Given the description of an element on the screen output the (x, y) to click on. 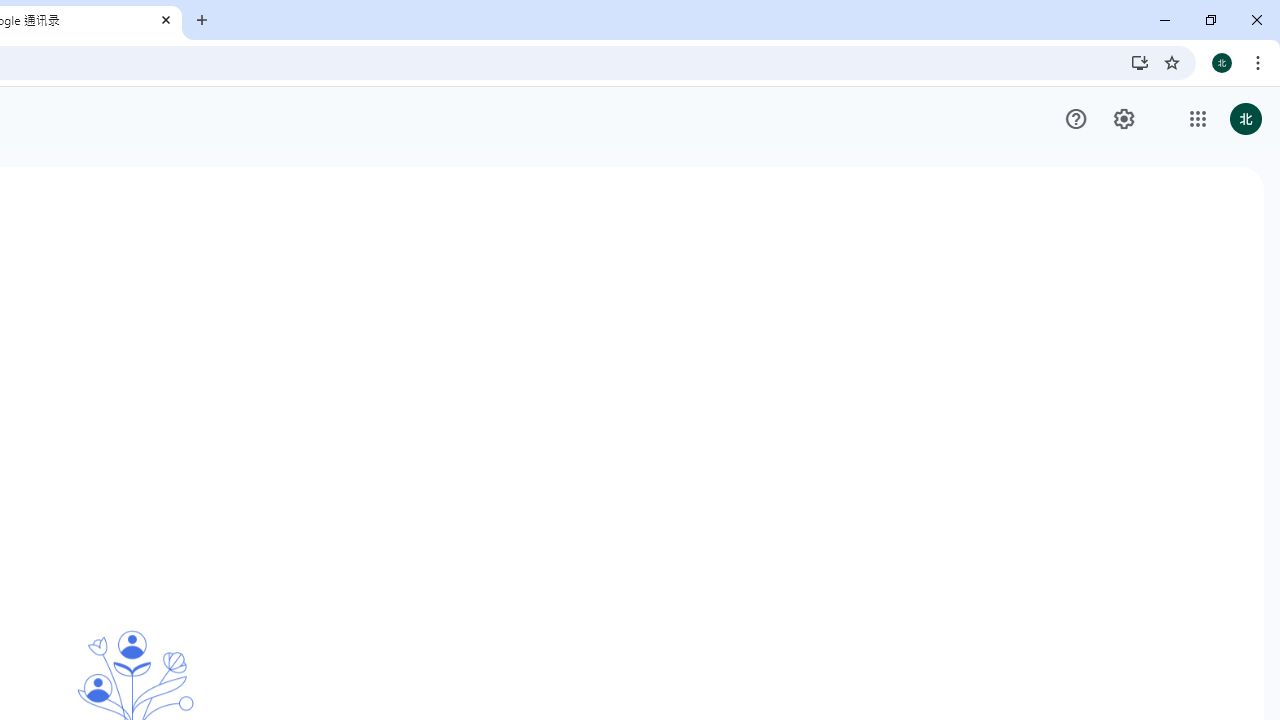
Install Google Contacts (1139, 62)
